Given the description of an element on the screen output the (x, y) to click on. 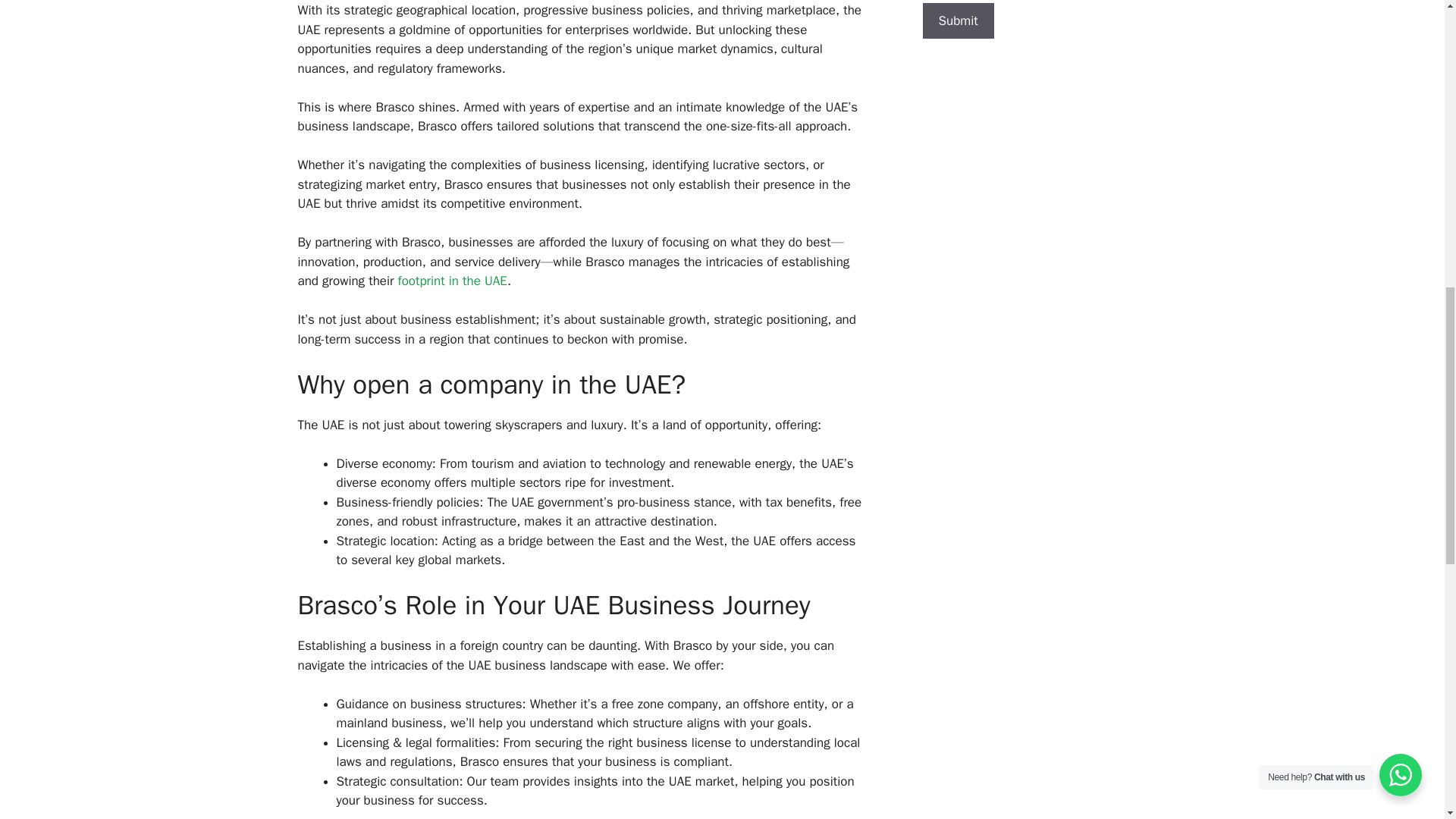
Submit (956, 21)
Submit (956, 21)
footprint in the UAE (451, 280)
